Given the description of an element on the screen output the (x, y) to click on. 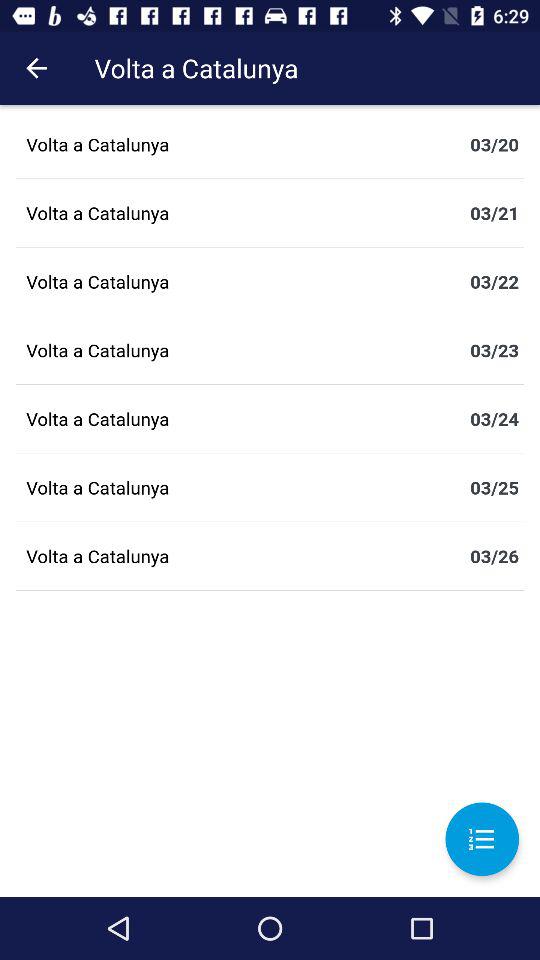
select the item at the bottom right corner (482, 839)
